Given the description of an element on the screen output the (x, y) to click on. 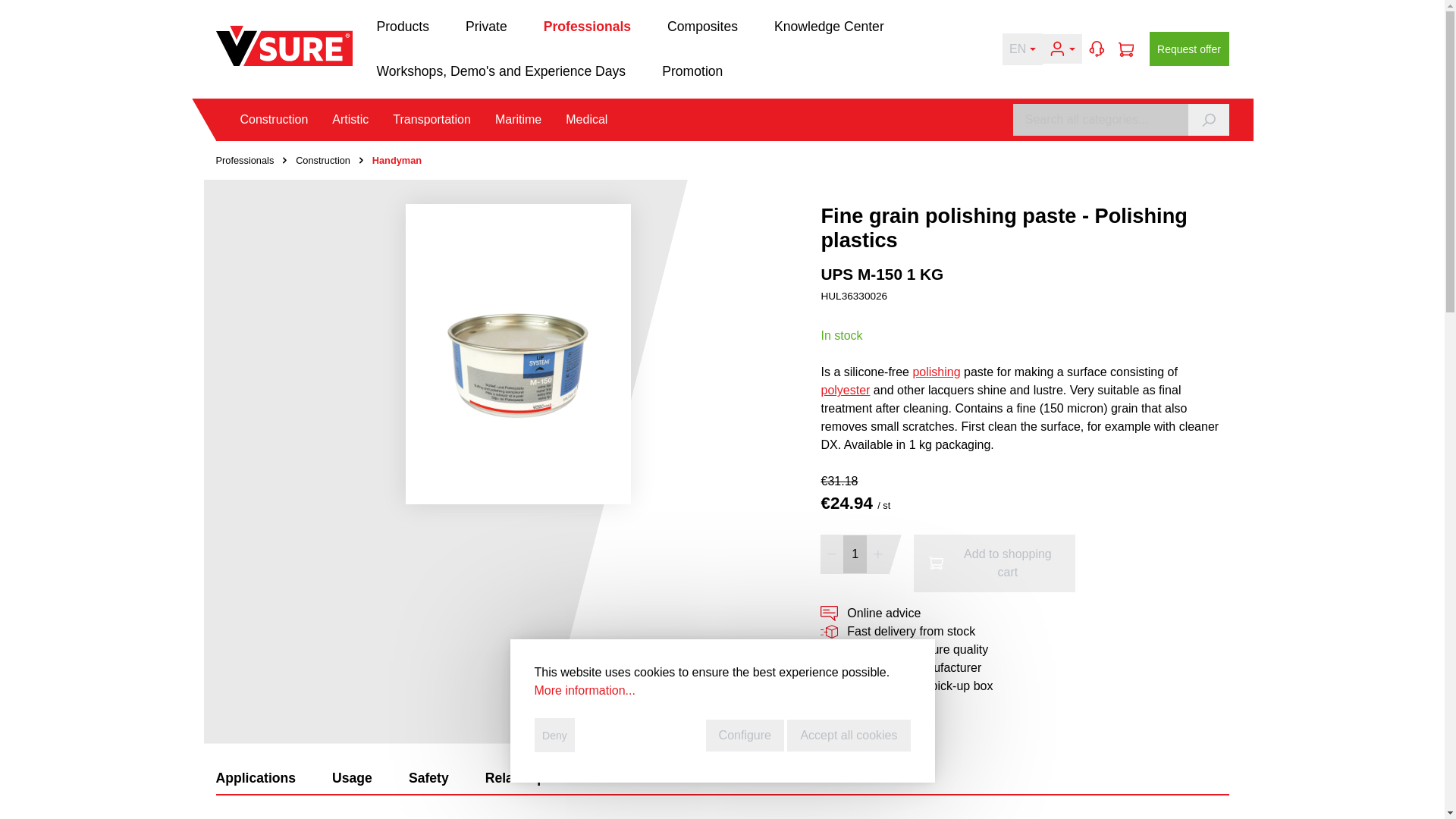
Plastic materials for private individuals (504, 26)
Fibre-reinforced plastics for the composites processor (720, 26)
Transportation (444, 119)
V-Sure webshop (283, 45)
Request offer (1189, 48)
EN (1022, 49)
Medical (586, 119)
Customer care and contact (1096, 48)
Artistic (362, 119)
Plastic materials for professionals (604, 26)
All V-Sure knowledge gathered in one place (847, 26)
Professionals (604, 26)
Promotion (692, 71)
Private (504, 26)
Construction (285, 119)
